Given the description of an element on the screen output the (x, y) to click on. 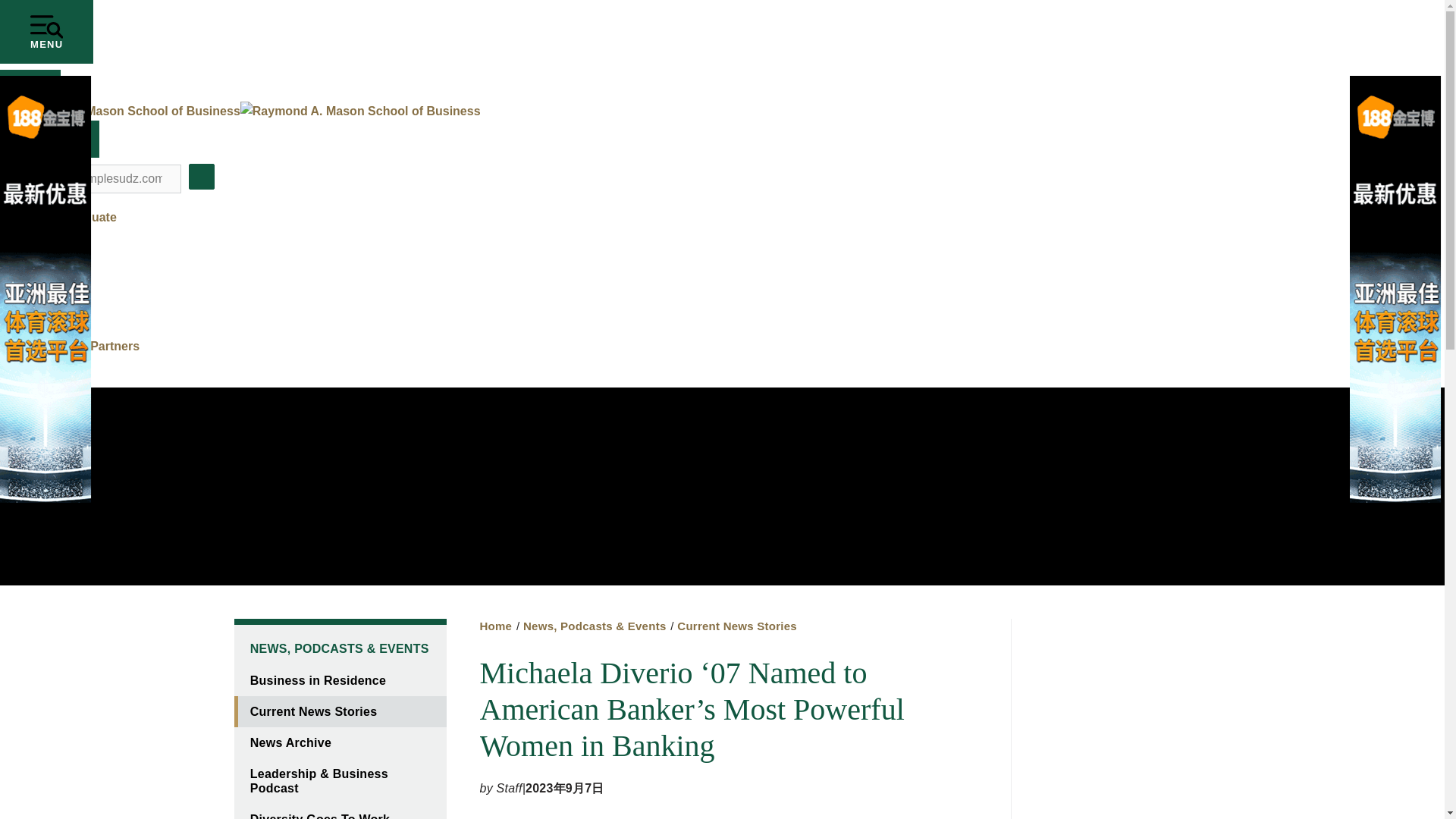
Diversity Goes To Work Podcast (338, 811)
SUBMIT SEARCH (201, 176)
News Archive (338, 742)
CLOSE (49, 139)
SCROLL TO NEXT SECTION (30, 82)
Alumni (50, 275)
MENU (46, 31)
Diversity Goes To Work Podcast (338, 811)
Giving (49, 364)
Current News Stories (736, 625)
Graduate (56, 236)
Business in Residence (338, 680)
Executive Partners (84, 345)
News Archive (338, 742)
About (47, 326)
